Given the description of an element on the screen output the (x, y) to click on. 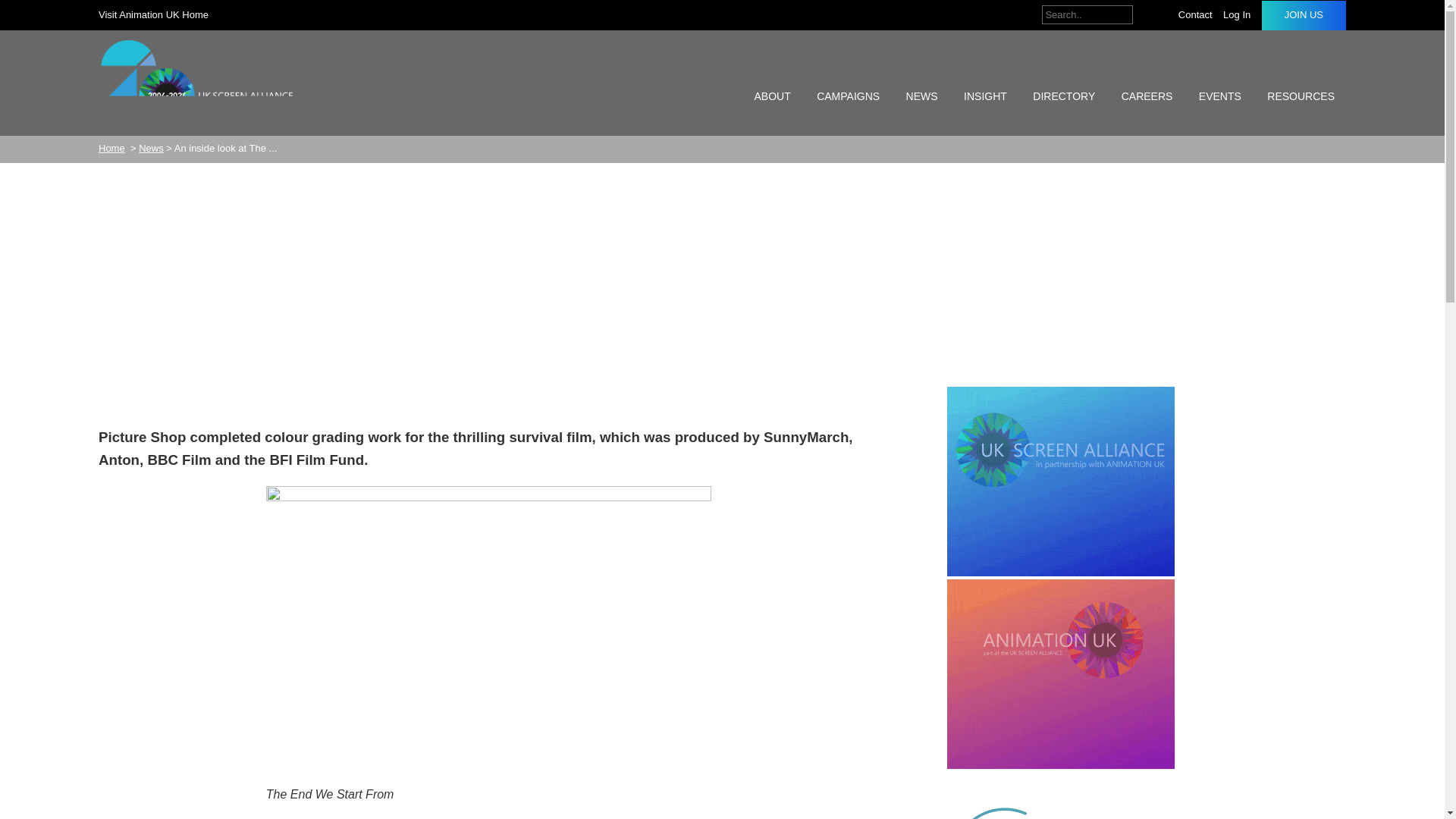
News (150, 147)
Visit Animation UK Home (157, 14)
Log In (1240, 15)
twitter sharing button (148, 406)
Contact (1198, 15)
Search (1146, 14)
Search (1146, 14)
JOIN US (1303, 15)
Home (112, 147)
